Given the description of an element on the screen output the (x, y) to click on. 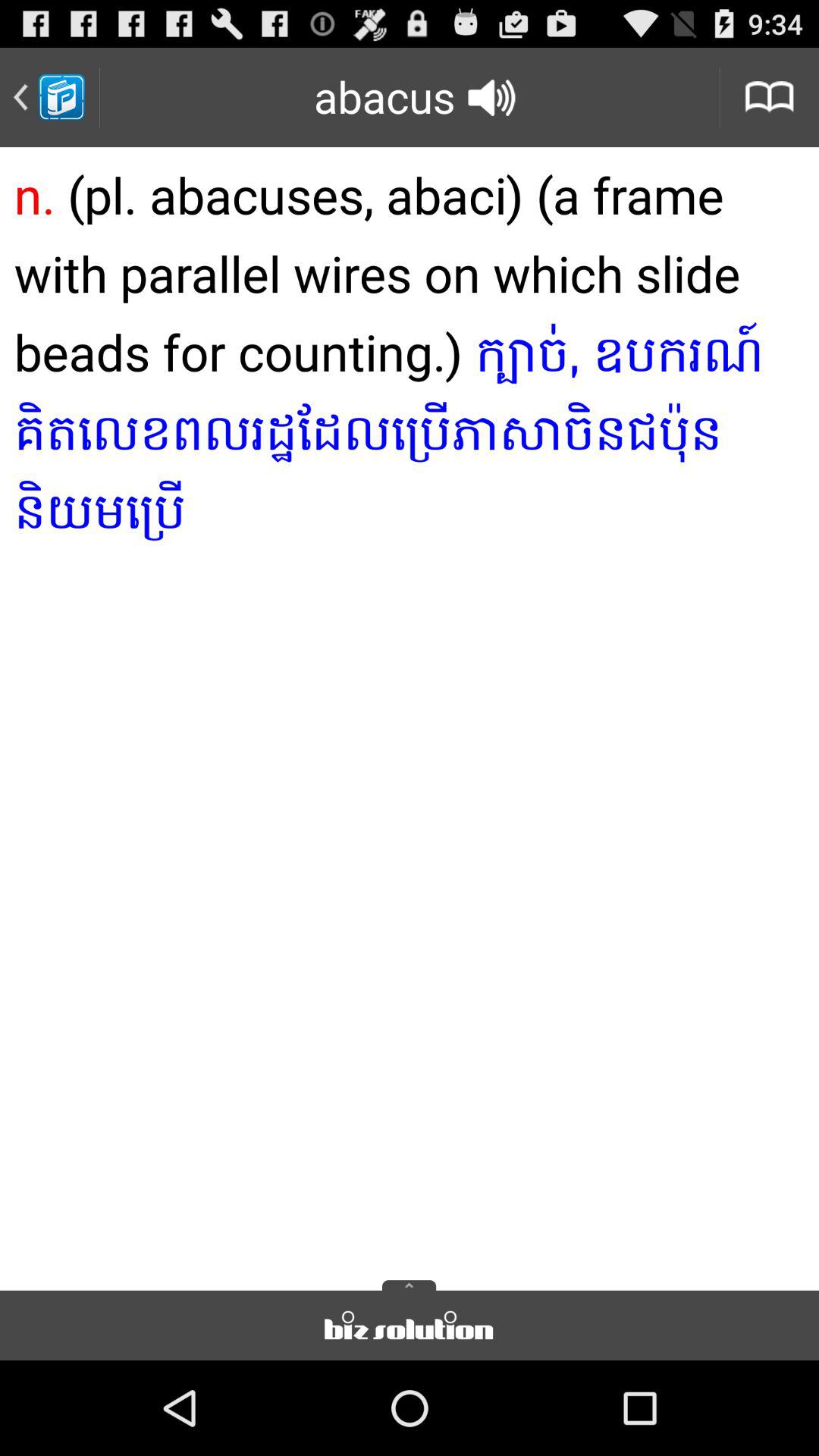
tap item below the  abacus  icon (409, 713)
